Given the description of an element on the screen output the (x, y) to click on. 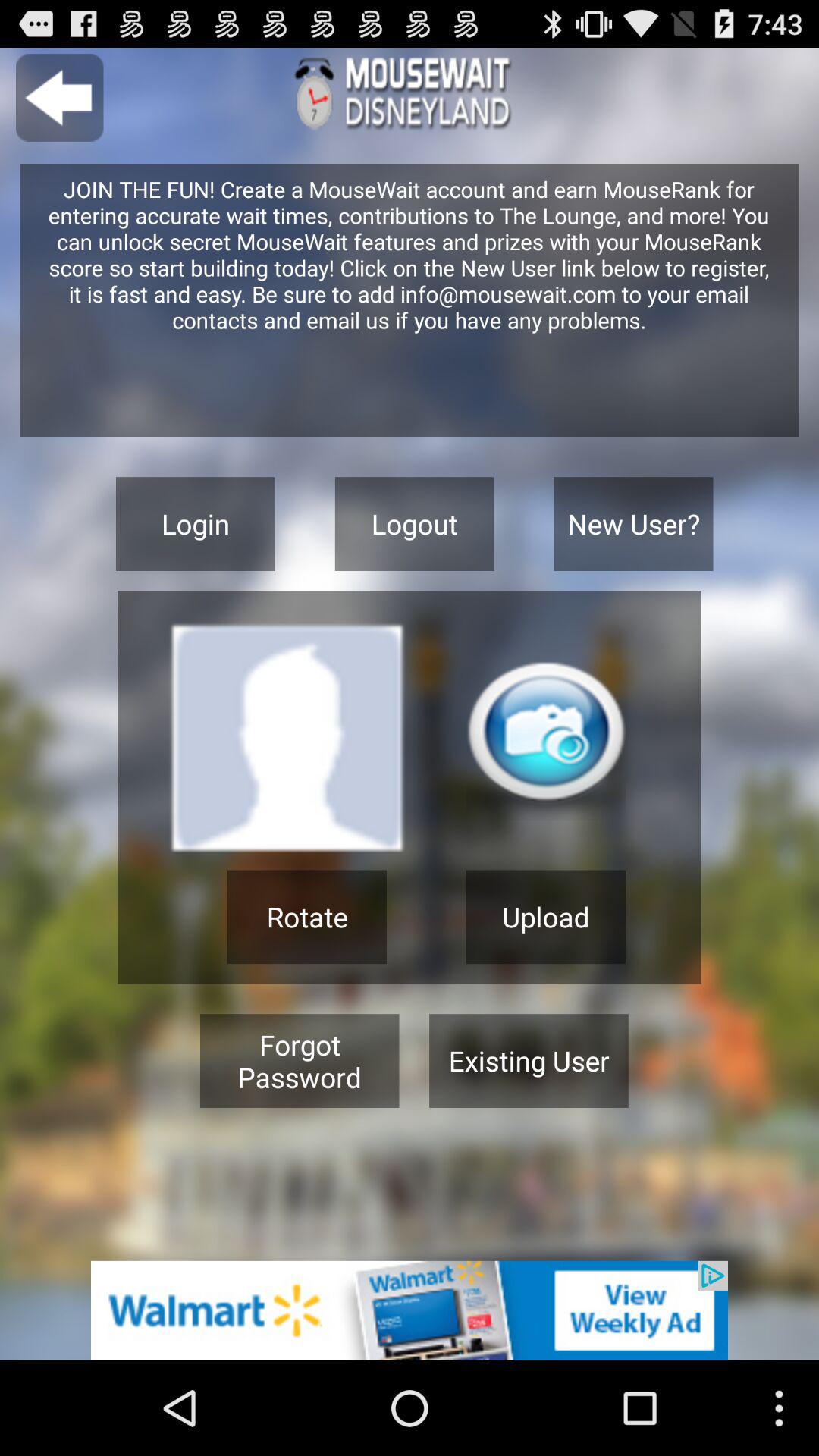
camera button (545, 740)
